Given the description of an element on the screen output the (x, y) to click on. 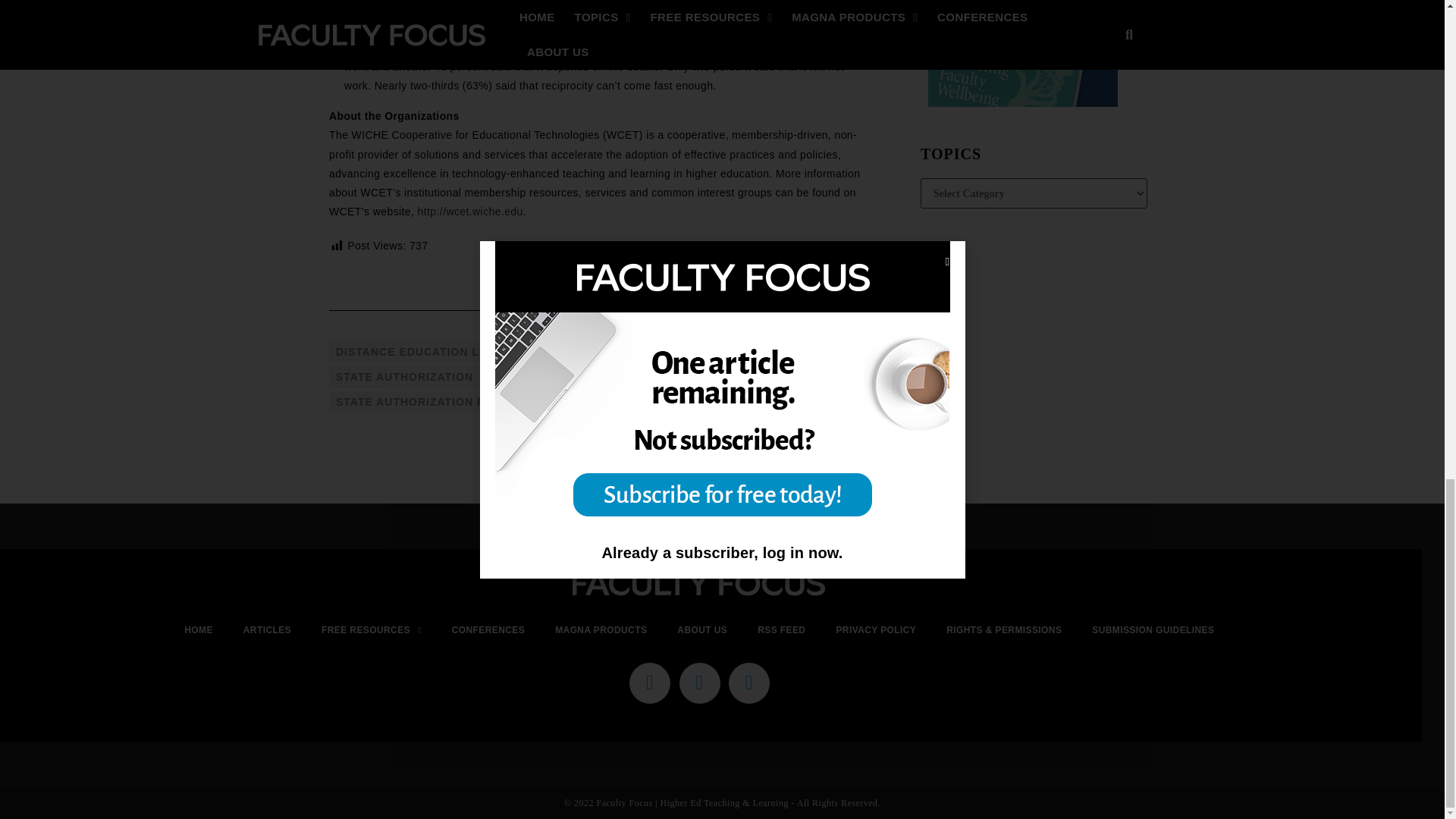
LinkedIn (835, 266)
Email This (793, 266)
Pinterest (814, 266)
Facebook (750, 266)
More Options (856, 266)
